Given the description of an element on the screen output the (x, y) to click on. 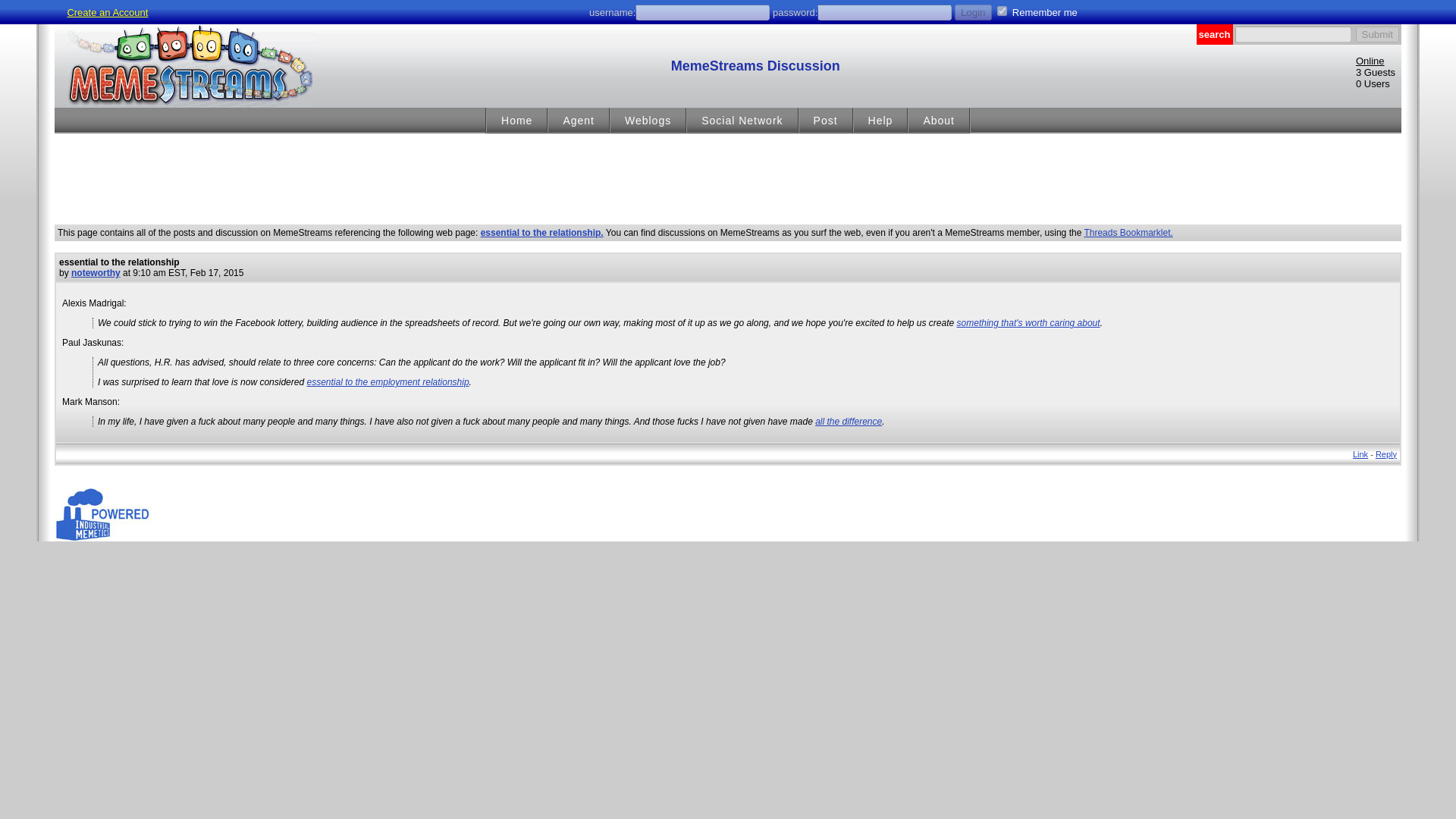
Post (825, 120)
About (938, 120)
yes (1002, 10)
essential to the relationship. (542, 232)
Link (1360, 452)
Reply (1385, 452)
Home (516, 120)
Login (973, 12)
noteworthy (95, 272)
Login (973, 12)
Threads Bookmarklet. (1127, 232)
Help (880, 120)
Social Network (741, 120)
Online (1369, 60)
Submit (1377, 34)
